Given the description of an element on the screen output the (x, y) to click on. 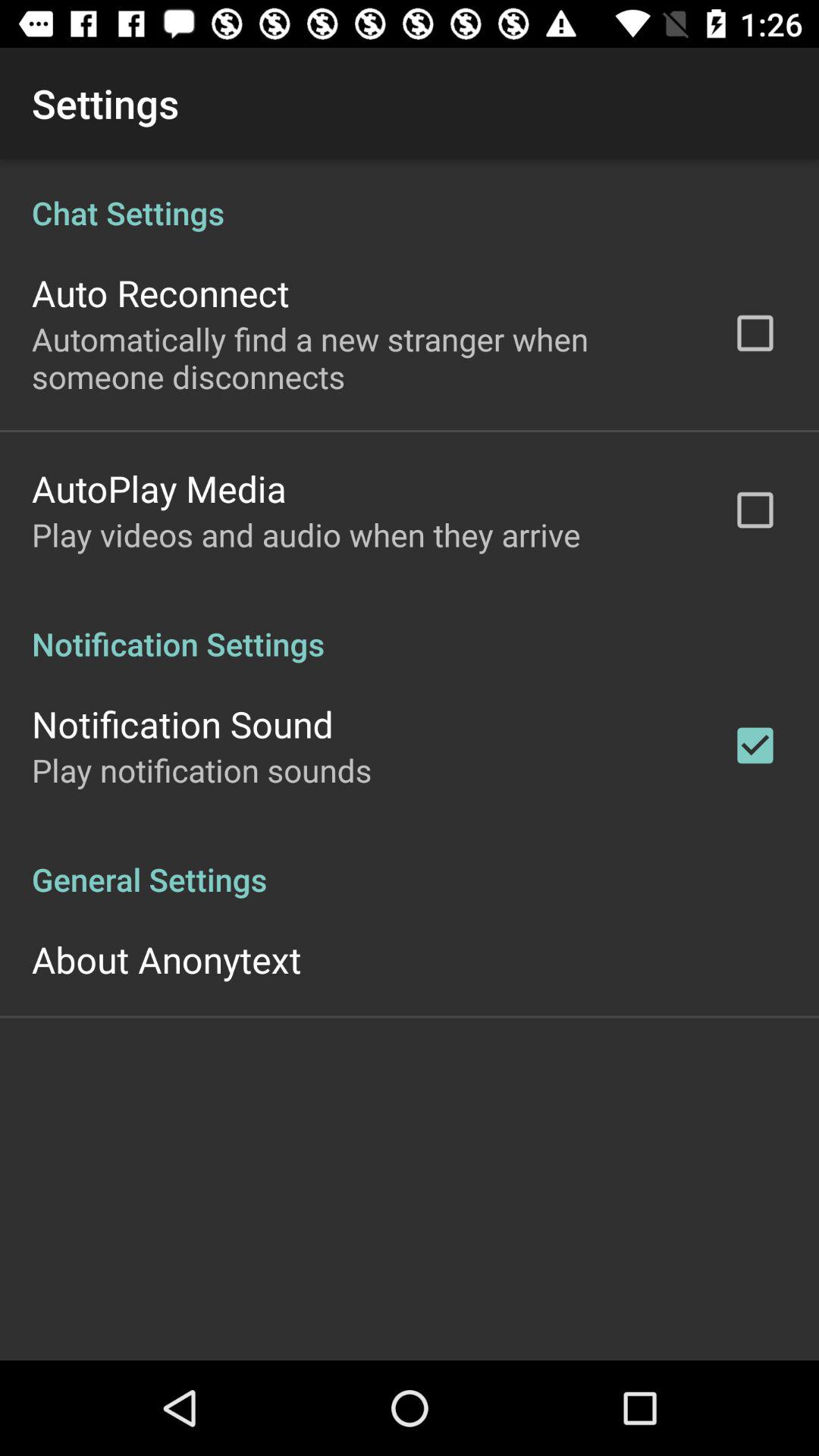
open item below automatically find a (158, 488)
